Given the description of an element on the screen output the (x, y) to click on. 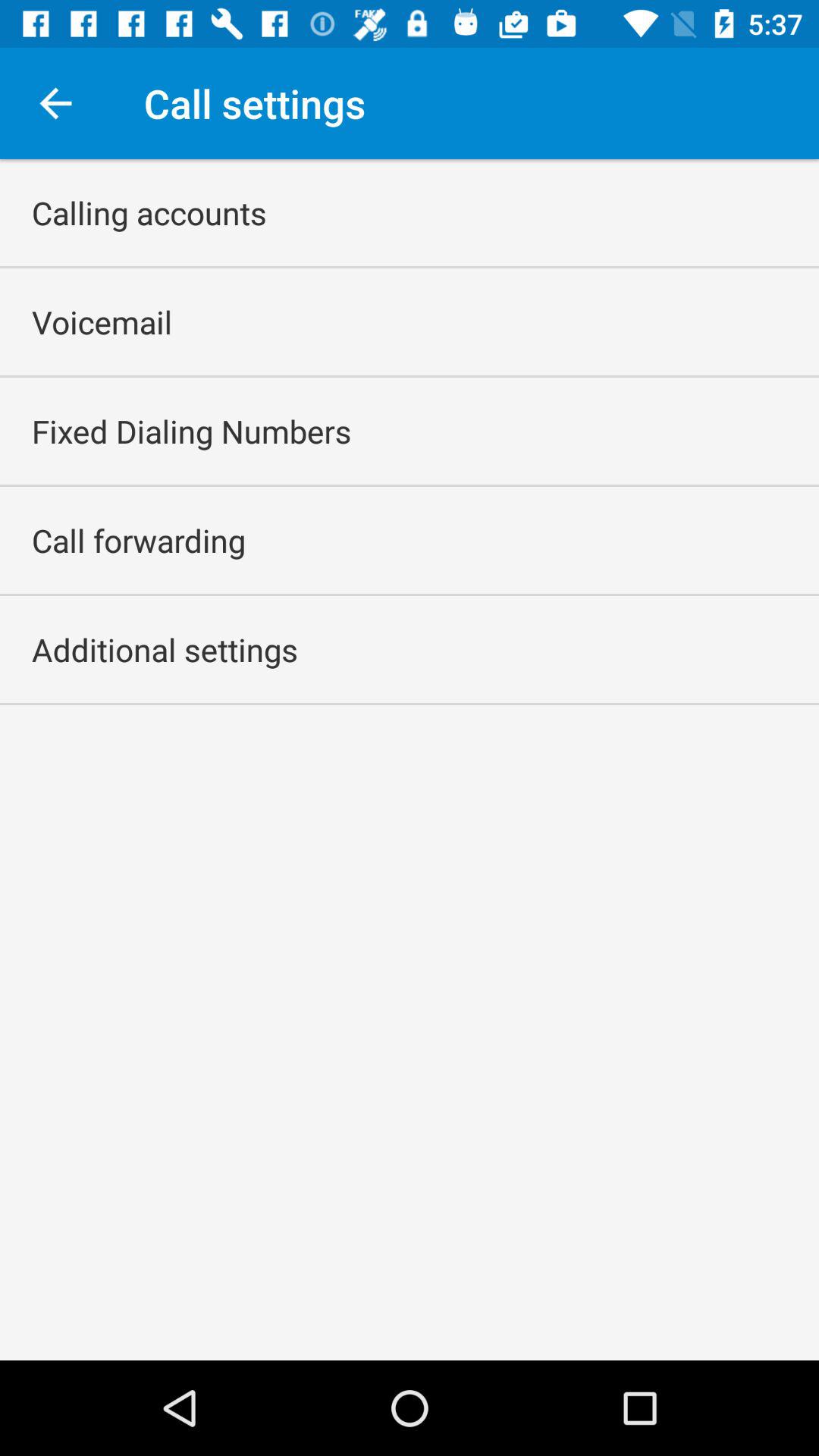
tap the call forwarding icon (138, 539)
